Given the description of an element on the screen output the (x, y) to click on. 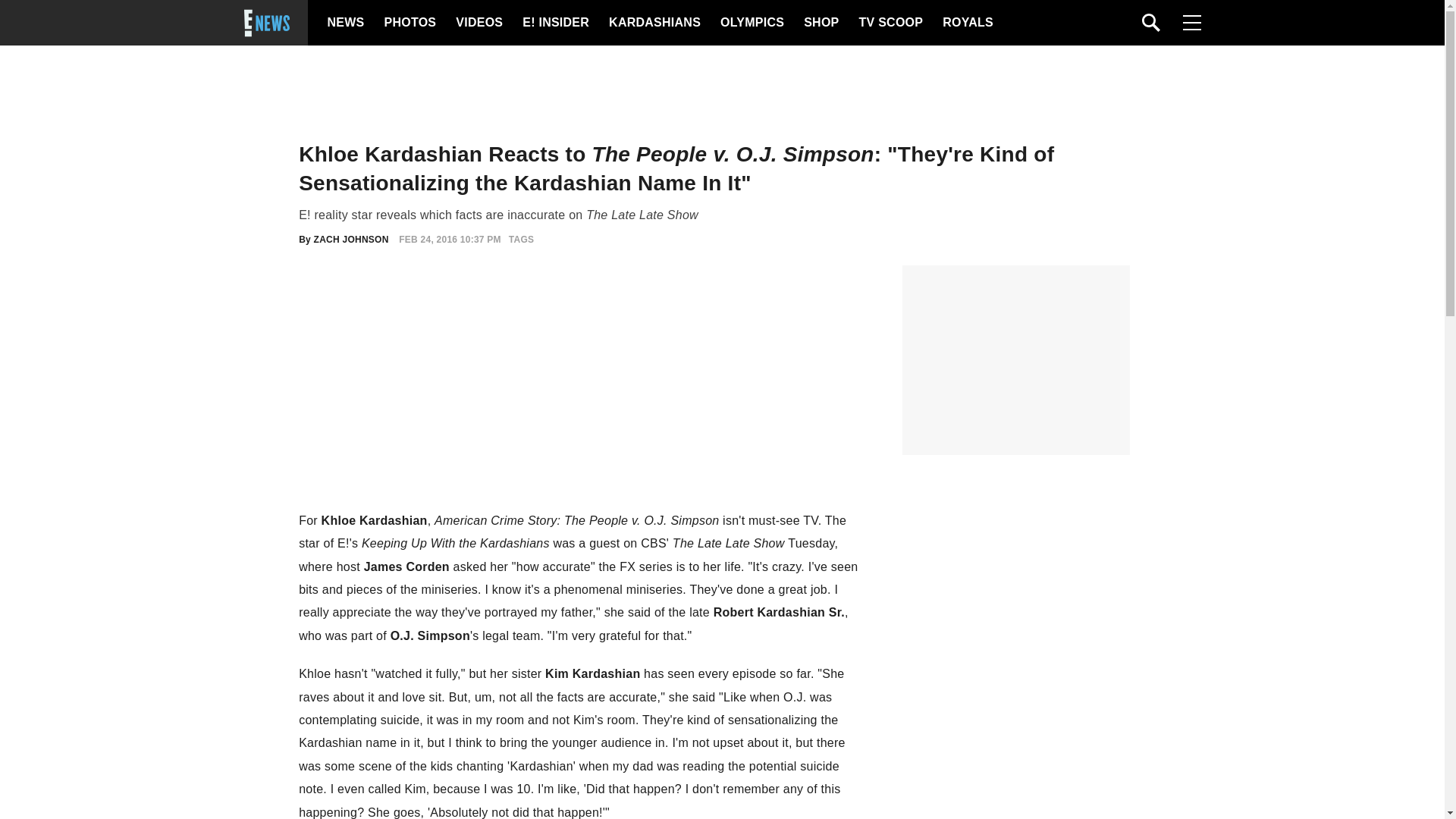
E! INSIDER (555, 22)
NEWS (345, 22)
PHOTOS (408, 22)
ZACH JOHNSON (351, 239)
VIDEOS (478, 22)
ROYALS (966, 22)
TV SCOOP (890, 22)
KARDASHIANS (653, 22)
OLYMPICS (751, 22)
SHOP (820, 22)
